Given the description of an element on the screen output the (x, y) to click on. 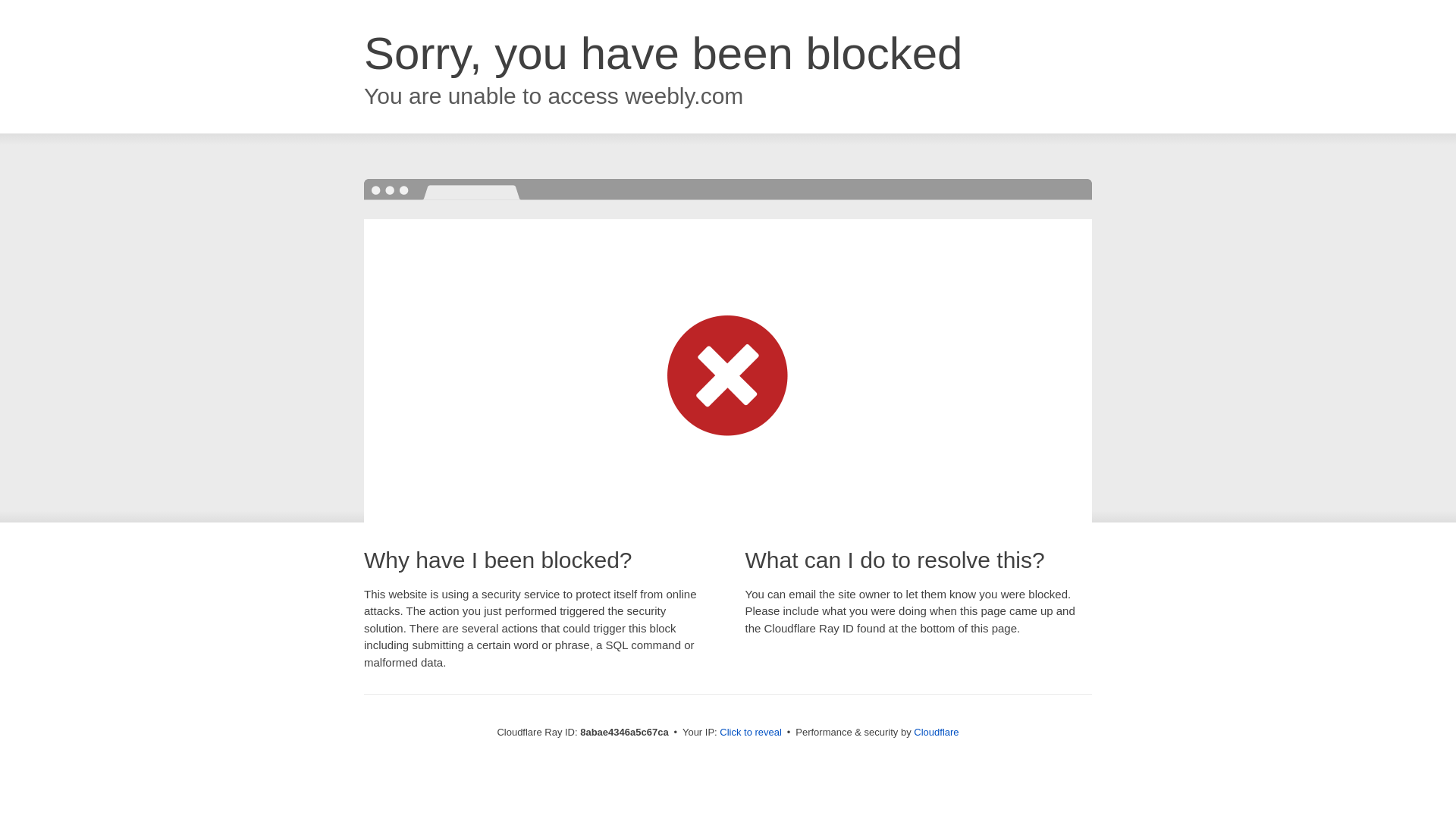
Cloudflare (936, 731)
Click to reveal (750, 732)
